Given the description of an element on the screen output the (x, y) to click on. 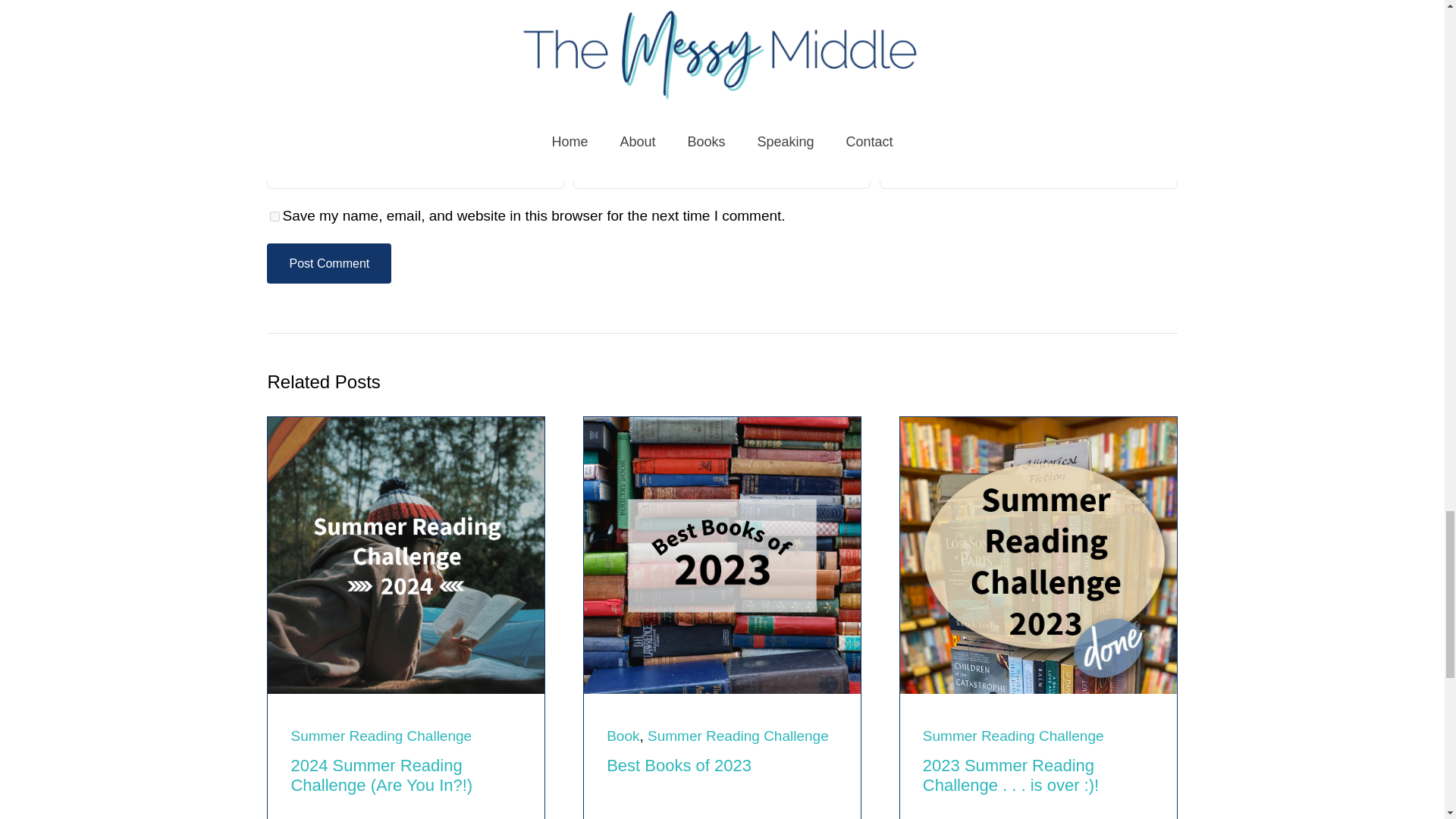
Summer Reading Challenge (737, 735)
Summer Reading Challenge (380, 735)
Post Comment (328, 263)
Book (623, 735)
yes (274, 216)
Summer Reading Challenge (1013, 735)
